Given the description of an element on the screen output the (x, y) to click on. 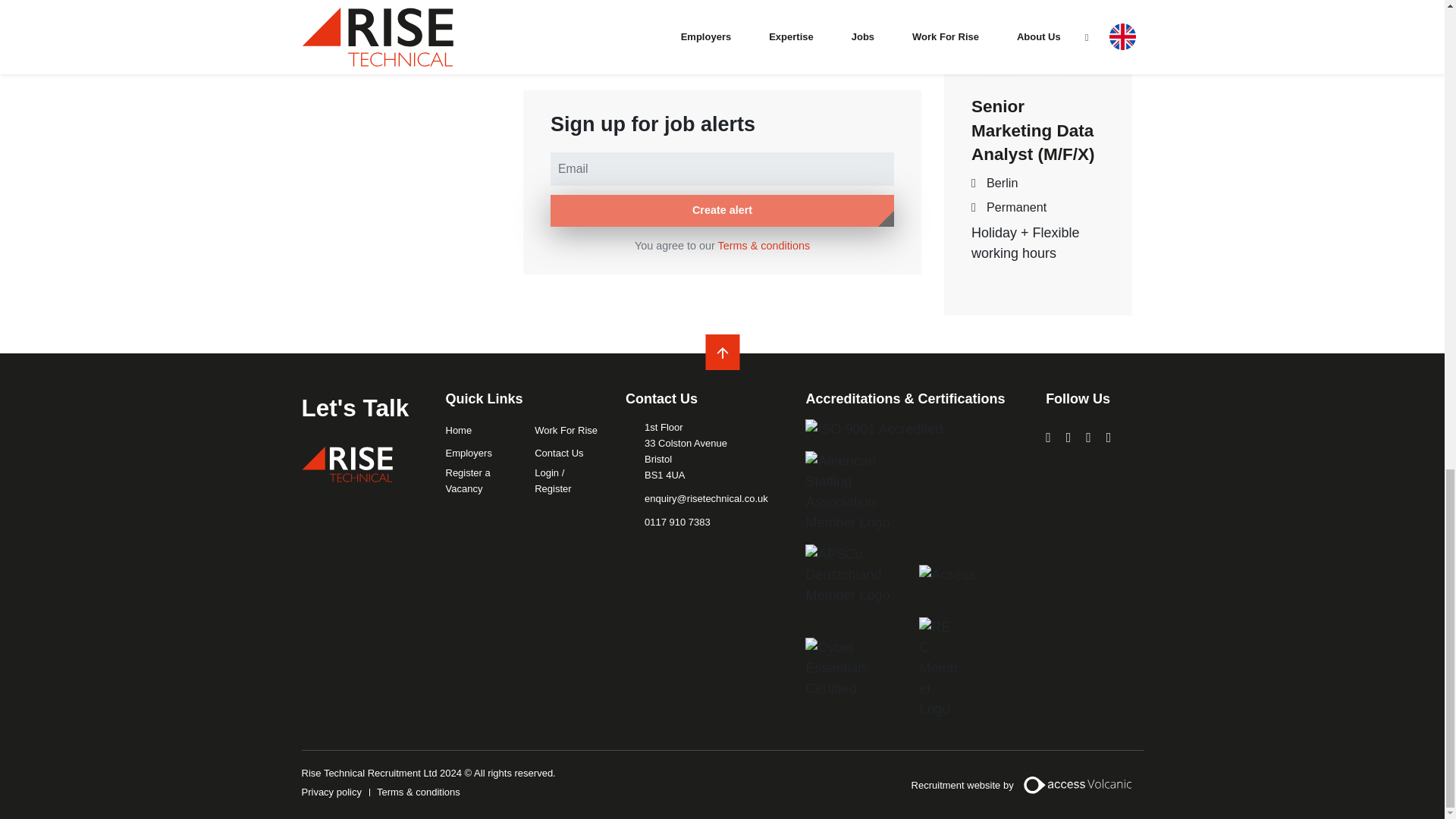
Facebook (1088, 436)
Instagram (1068, 436)
Rise Technical Recruitment Ltd (347, 464)
LinkedIn (1048, 436)
Rise Technical Recruitment Ltd (347, 464)
Twitter (1109, 436)
Up (722, 352)
